Given the description of an element on the screen output the (x, y) to click on. 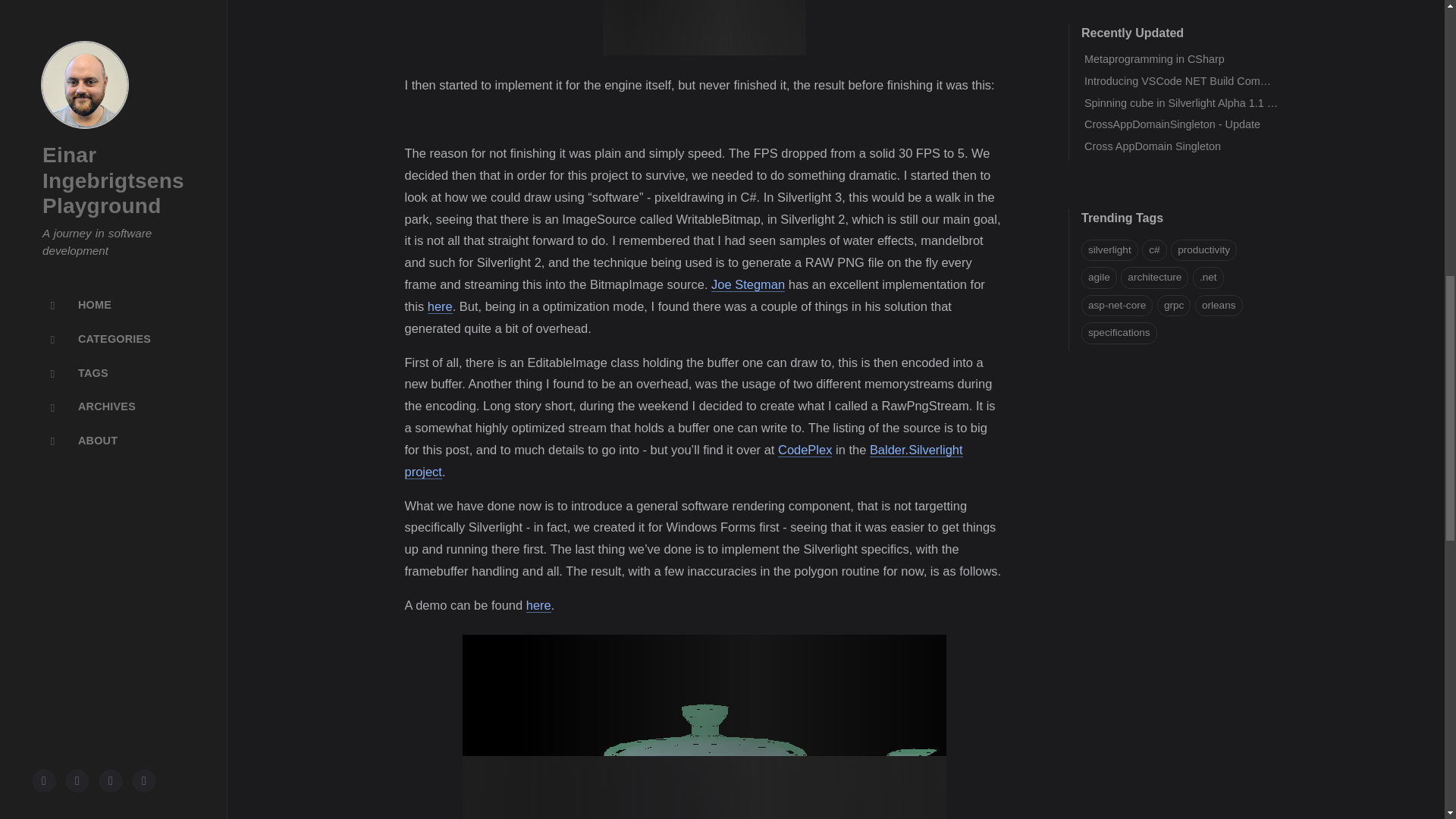
CodePlex (804, 450)
here (538, 605)
Balder.Silverlight project (683, 461)
Joe Stegman (747, 284)
here (440, 306)
